Given the description of an element on the screen output the (x, y) to click on. 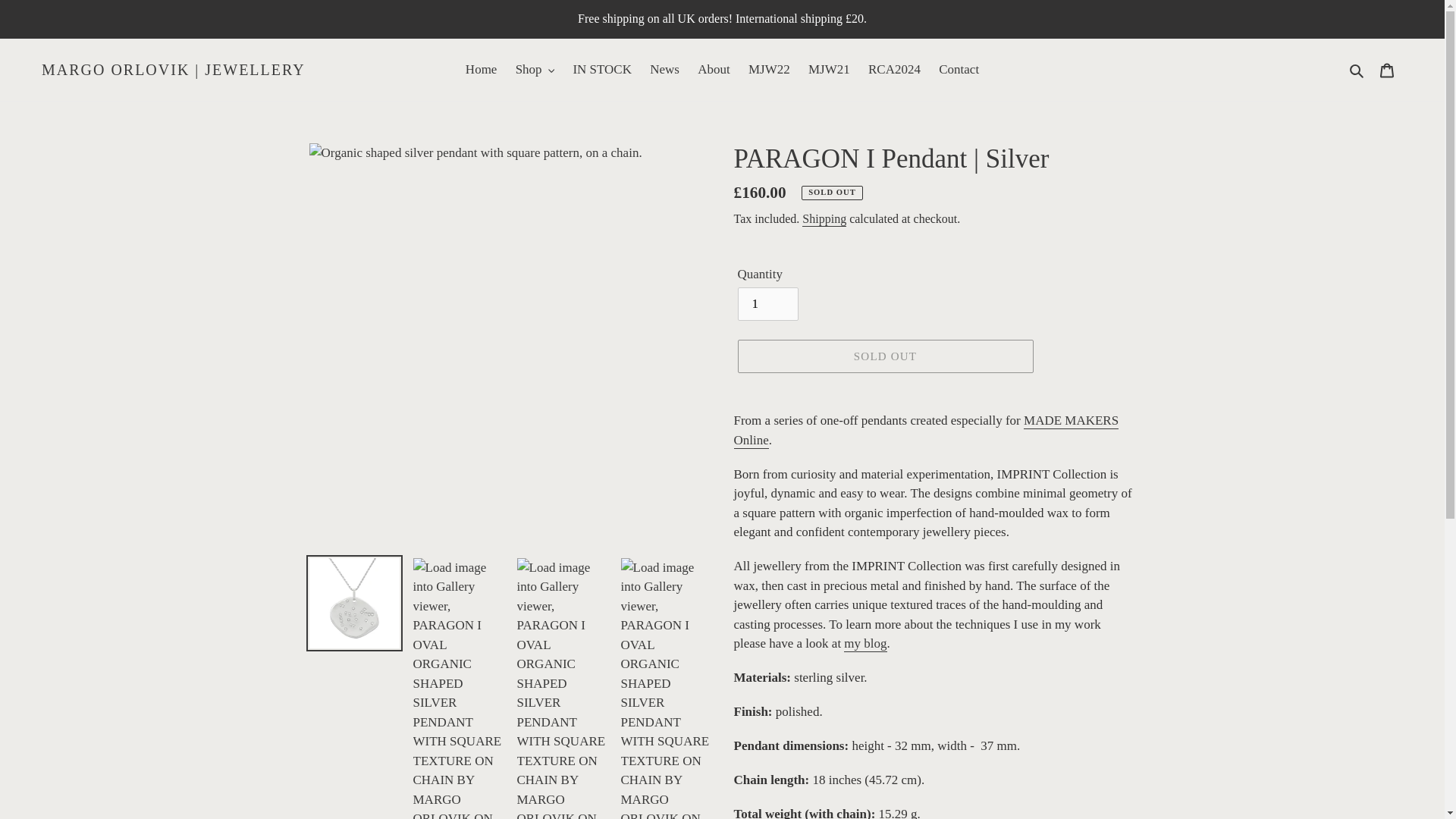
RCA2024 (894, 69)
IN STOCK (601, 69)
Cart (1387, 69)
Search (1357, 69)
About (714, 69)
Shop (535, 69)
MJW22 (769, 69)
Contact (959, 69)
MADE MAKERS Online (926, 430)
Home (481, 69)
